Given the description of an element on the screen output the (x, y) to click on. 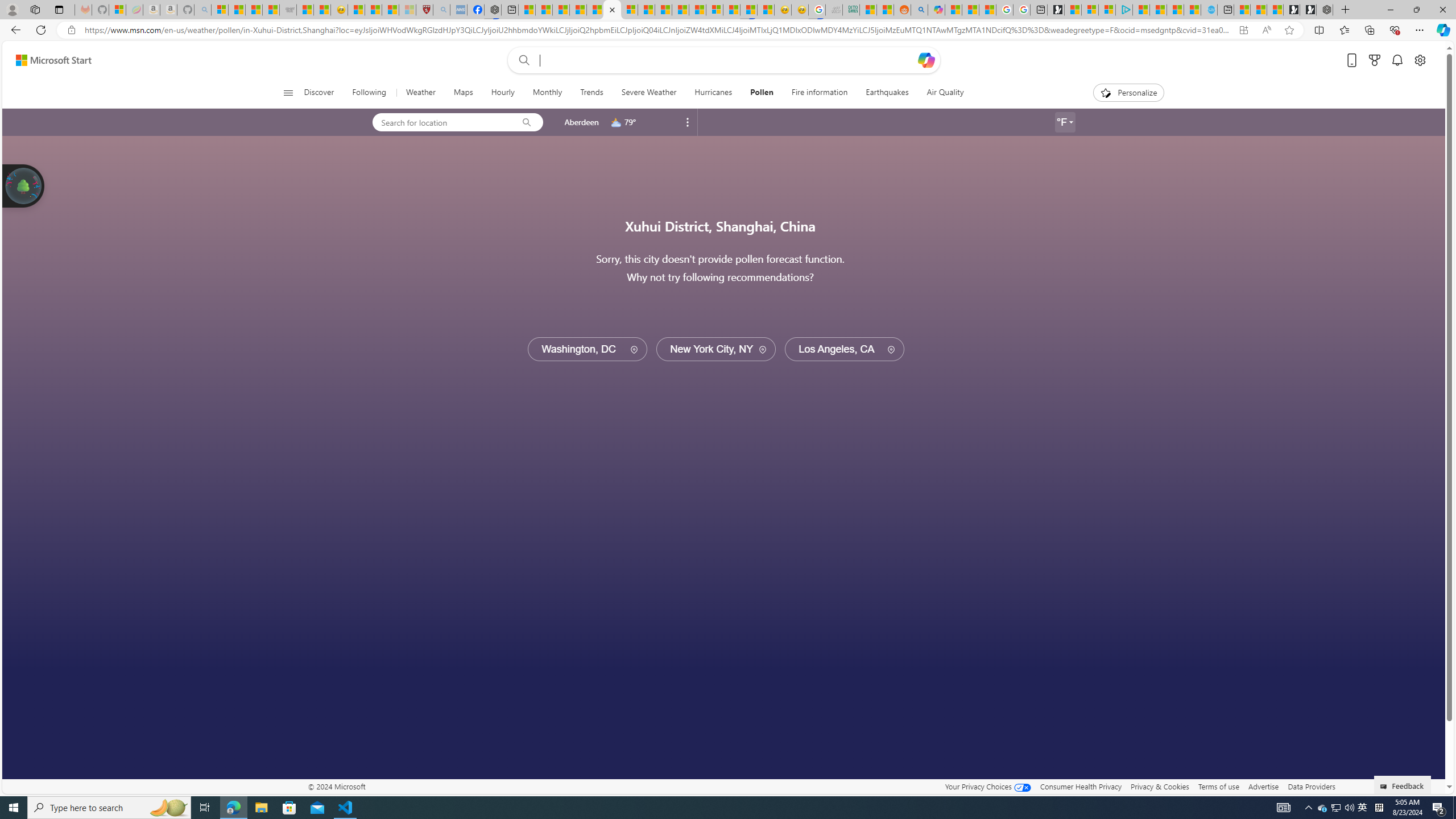
Los Angeles, CA (844, 349)
